Given the description of an element on the screen output the (x, y) to click on. 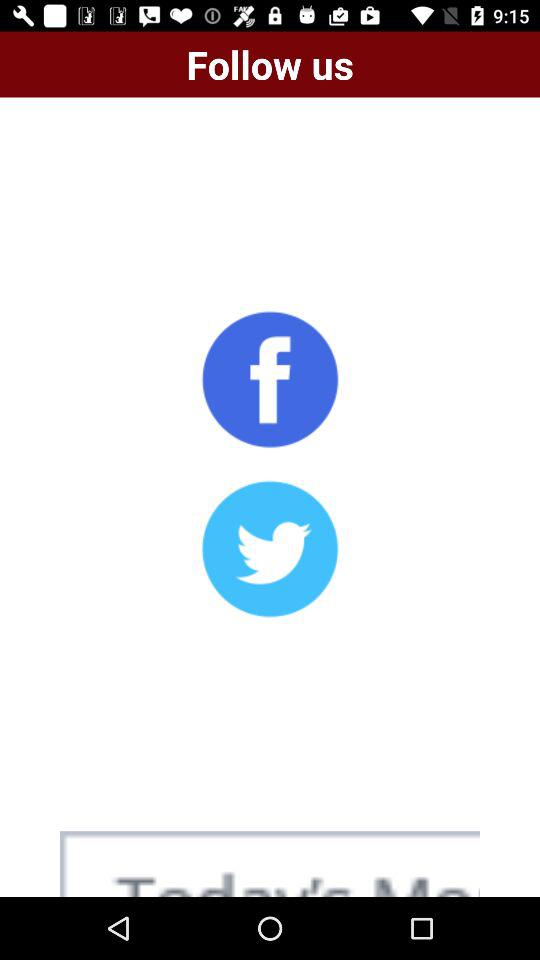
button used to follow on facebook (270, 379)
